Given the description of an element on the screen output the (x, y) to click on. 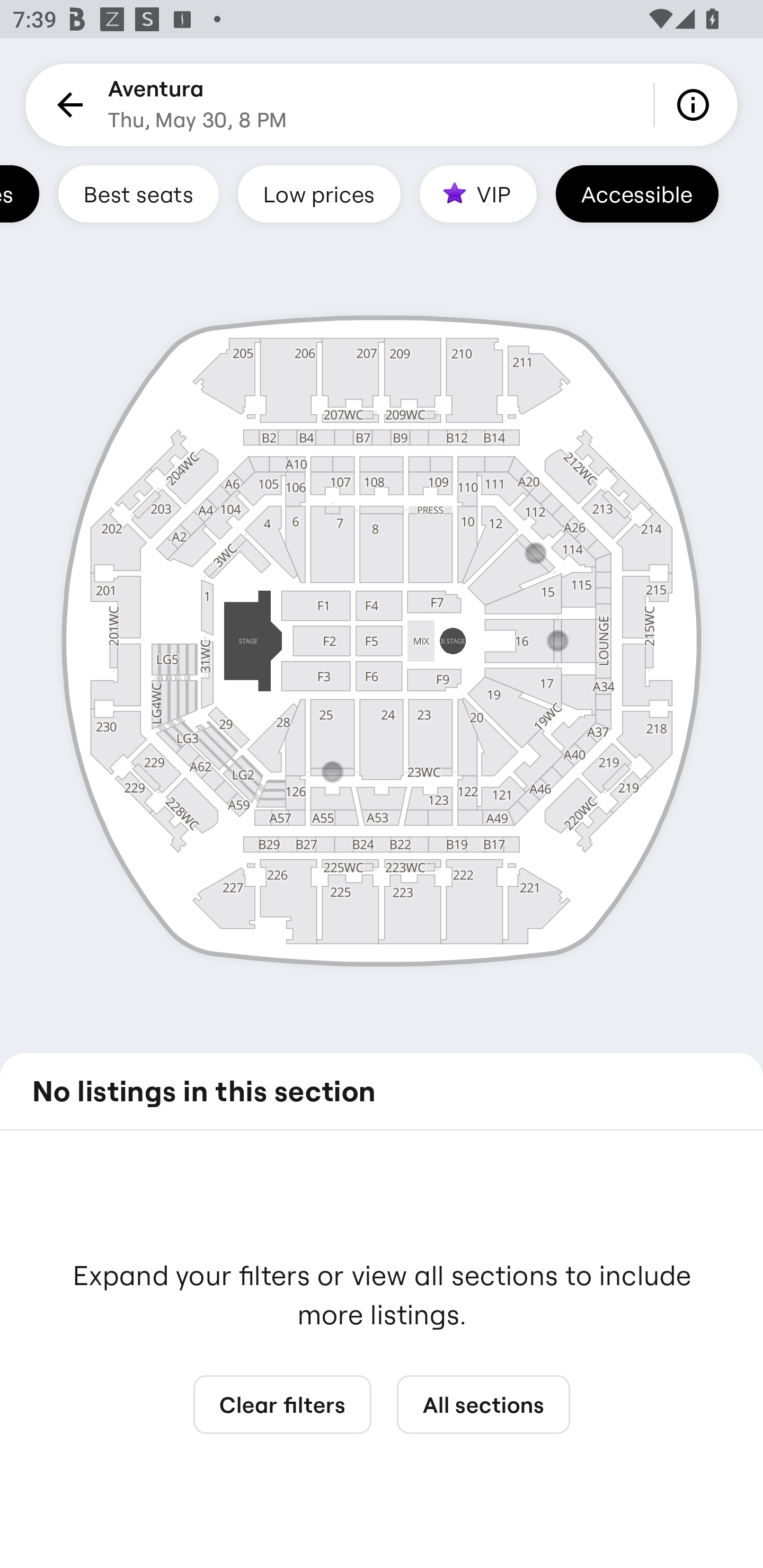
Back (66, 104)
Aventura Thu, May 30, 8 PM (197, 104)
Info (695, 104)
Best seats (137, 193)
Low prices (319, 193)
VIP (477, 193)
Accessible (636, 193)
Clear filters (282, 1404)
All sections (482, 1404)
